Given the description of an element on the screen output the (x, y) to click on. 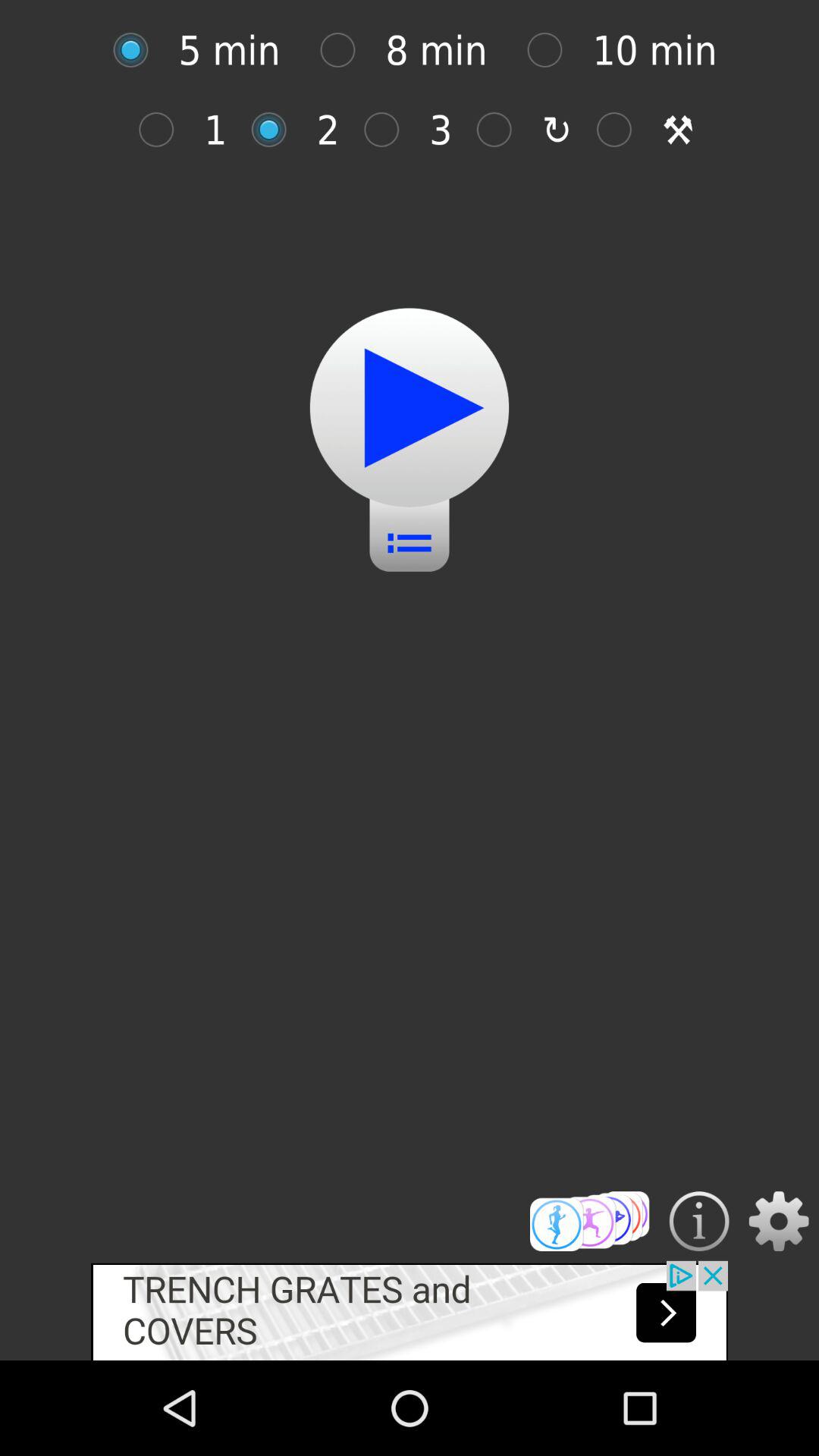
use setting 2 (276, 129)
